Given the description of an element on the screen output the (x, y) to click on. 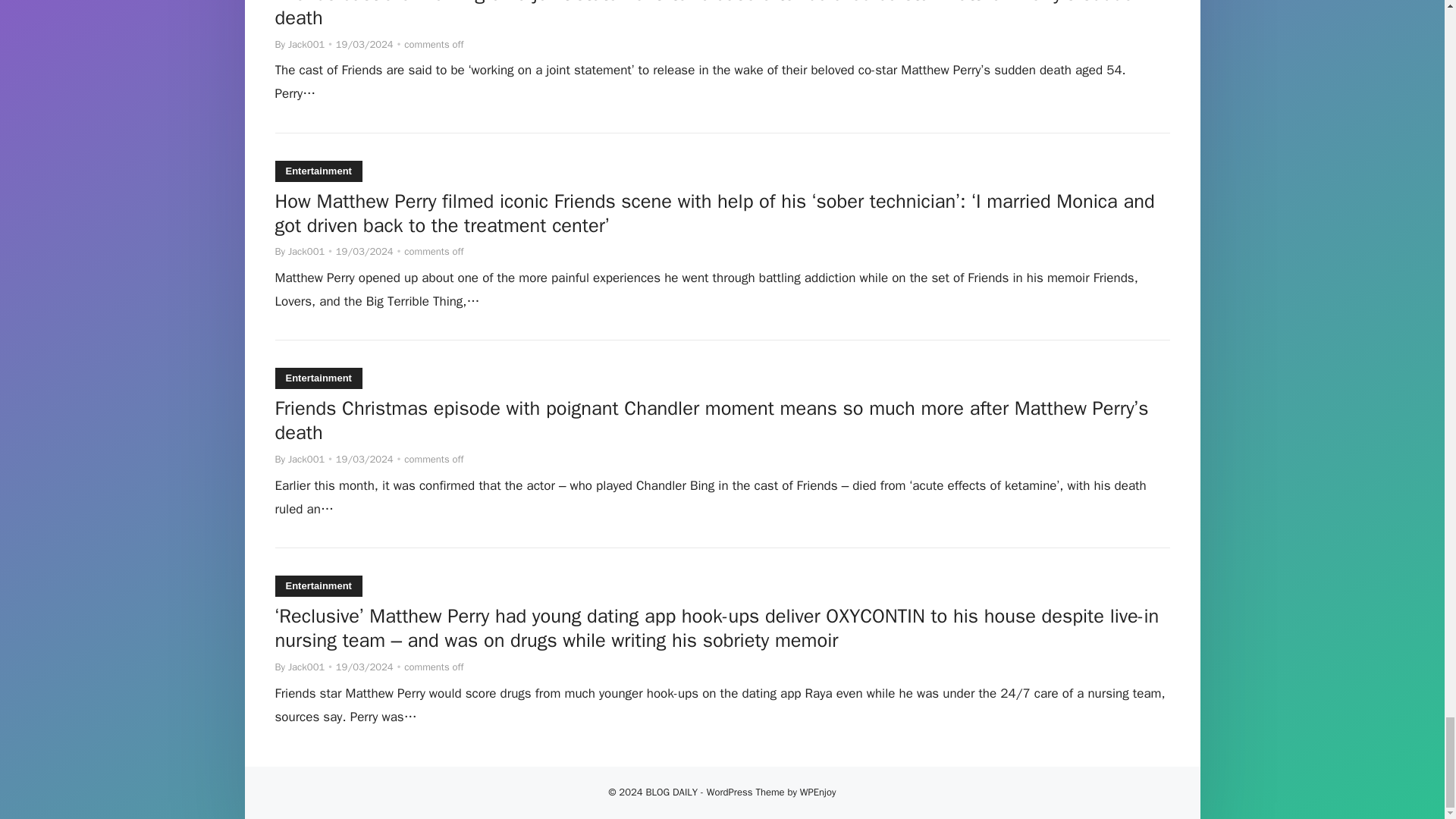
WPEnjoy (817, 794)
Jack001 (306, 459)
Entertainment (318, 586)
Jack001 (306, 43)
WordPress Theme (745, 794)
Entertainment (318, 170)
Jack001 (306, 250)
BLOG DAILY (671, 794)
Jack001 (306, 666)
Entertainment (318, 378)
